Given the description of an element on the screen output the (x, y) to click on. 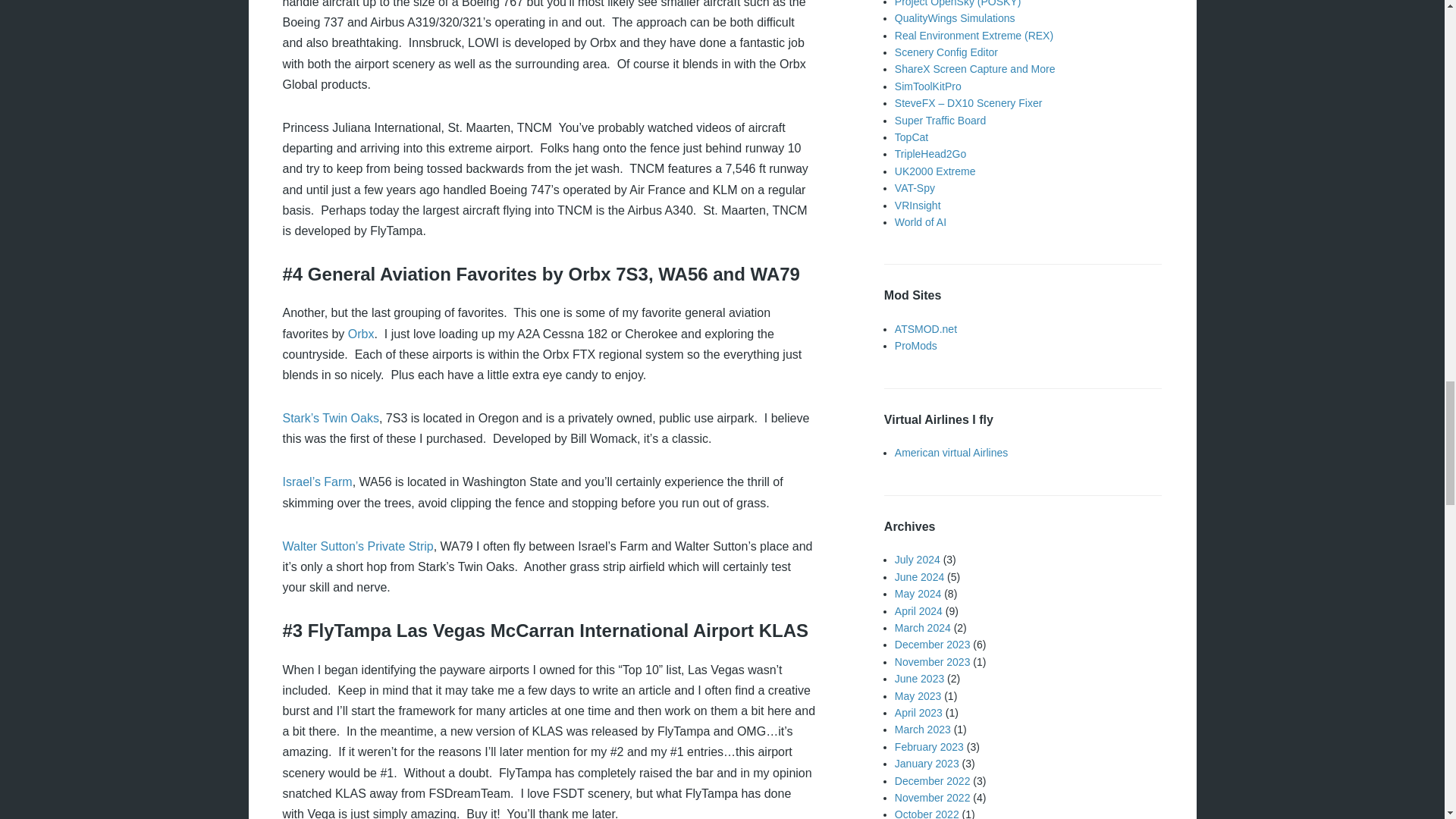
Orbx (360, 333)
